Given the description of an element on the screen output the (x, y) to click on. 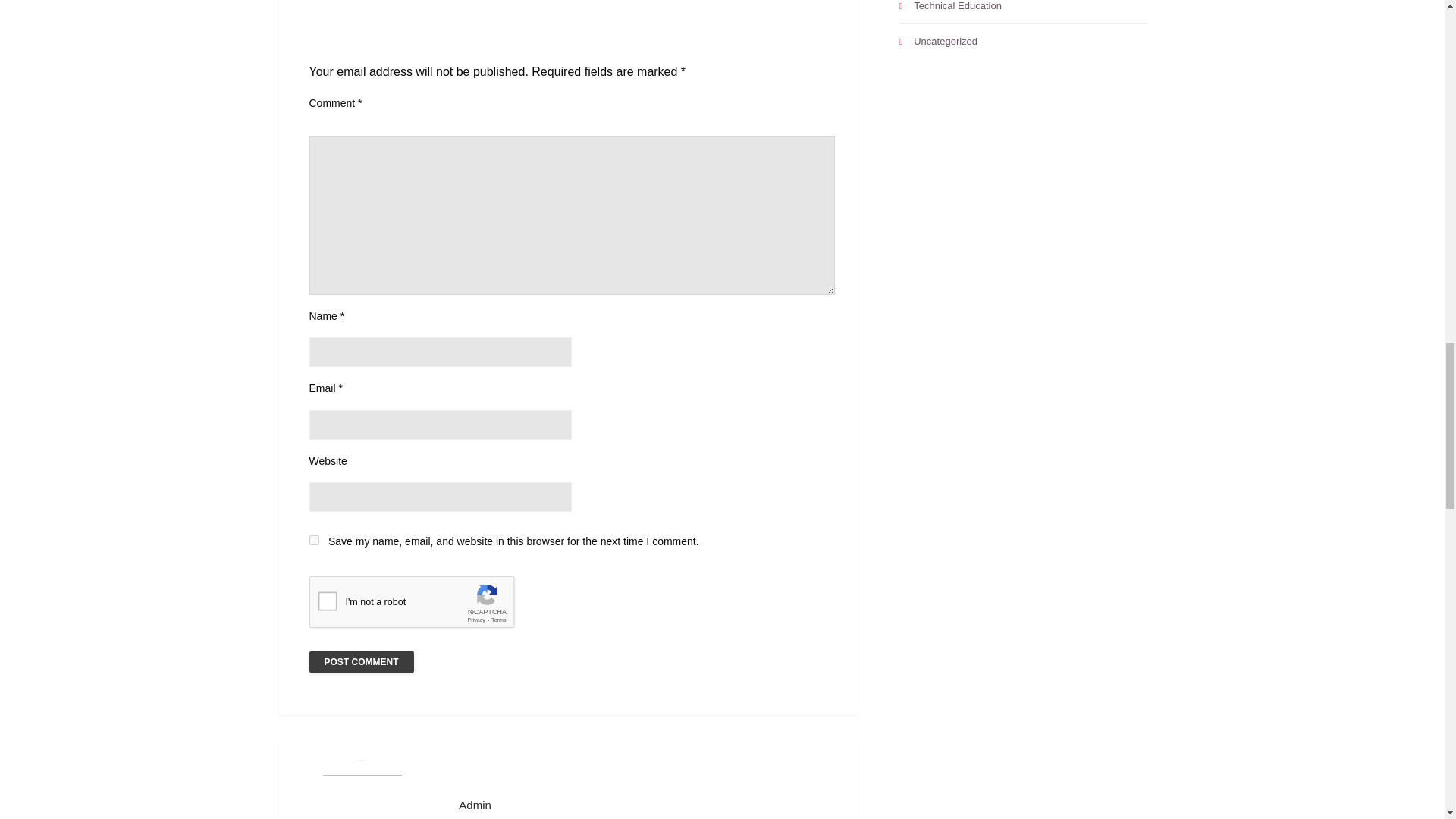
Post Comment (360, 661)
yes (313, 540)
reCAPTCHA (424, 605)
Post Comment (360, 661)
admin (646, 804)
Admin (646, 804)
